Given the description of an element on the screen output the (x, y) to click on. 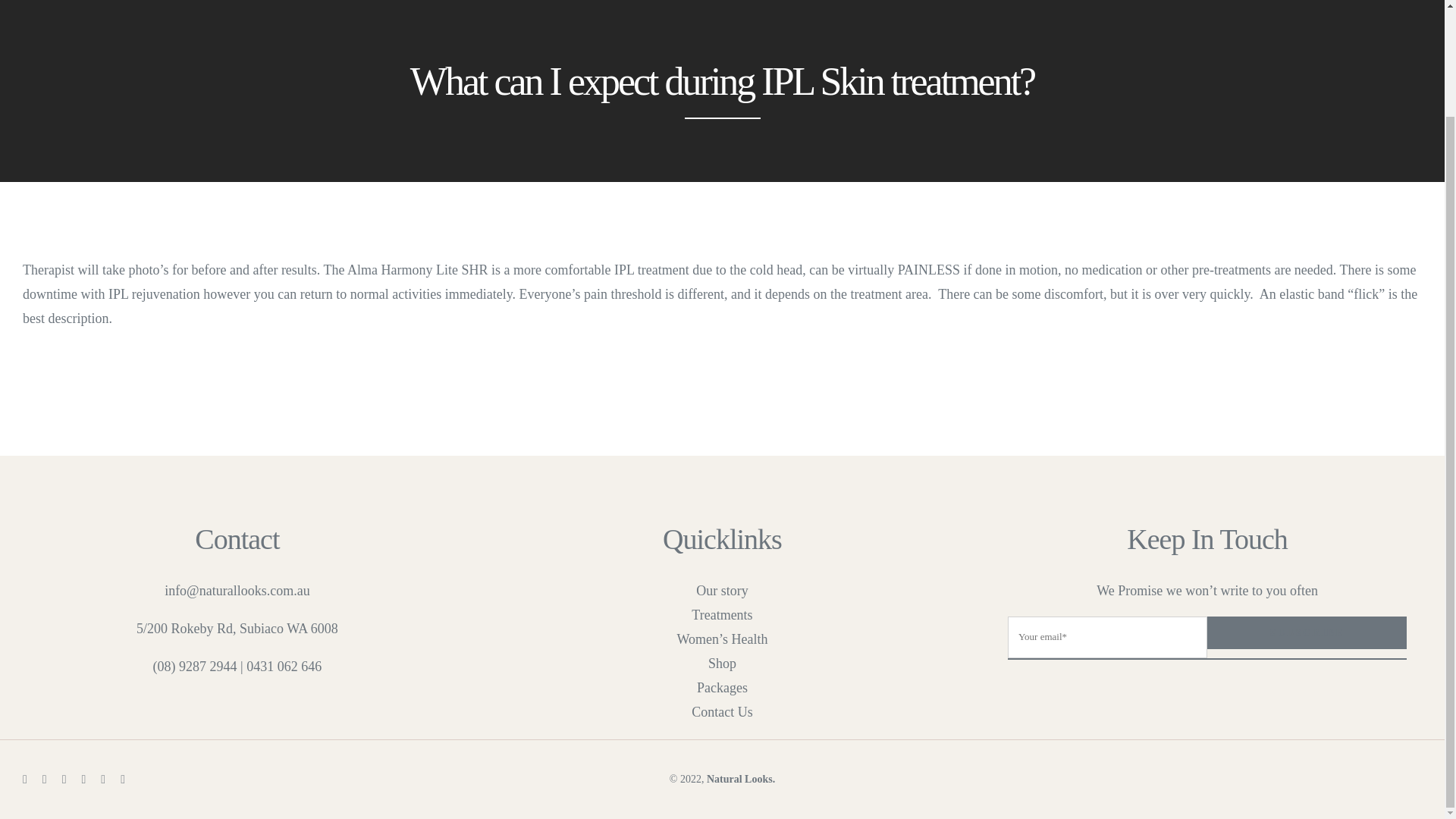
0431 062 646 (283, 666)
Treatments (722, 614)
Contact Us (722, 711)
Shop (722, 663)
Our story (722, 590)
Packages (722, 687)
SUBSCRIBE (1207, 638)
